Given the description of an element on the screen output the (x, y) to click on. 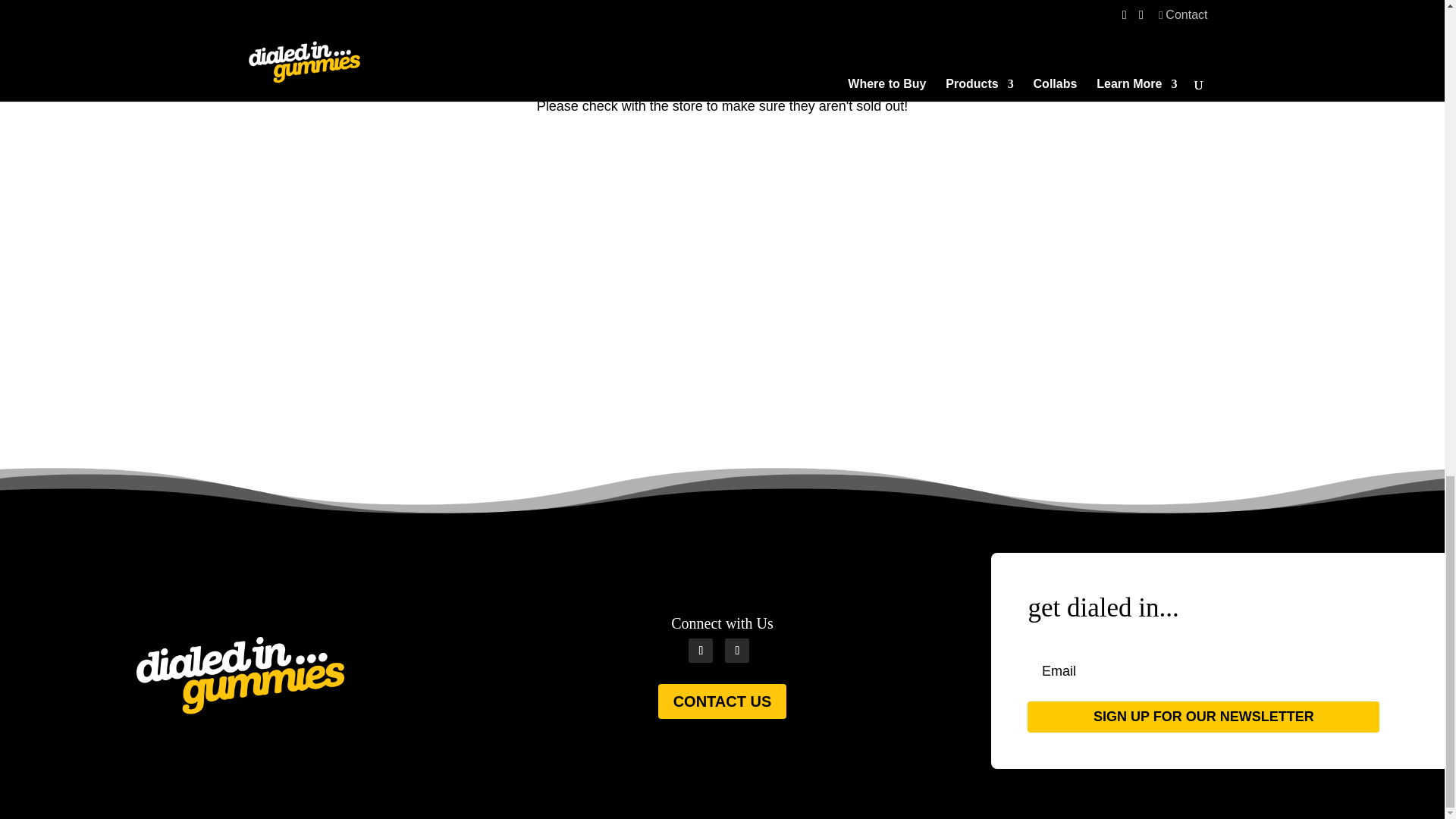
Follow on Instagram (737, 650)
Follow on Facebook (700, 650)
logo2024 (240, 675)
